Given the description of an element on the screen output the (x, y) to click on. 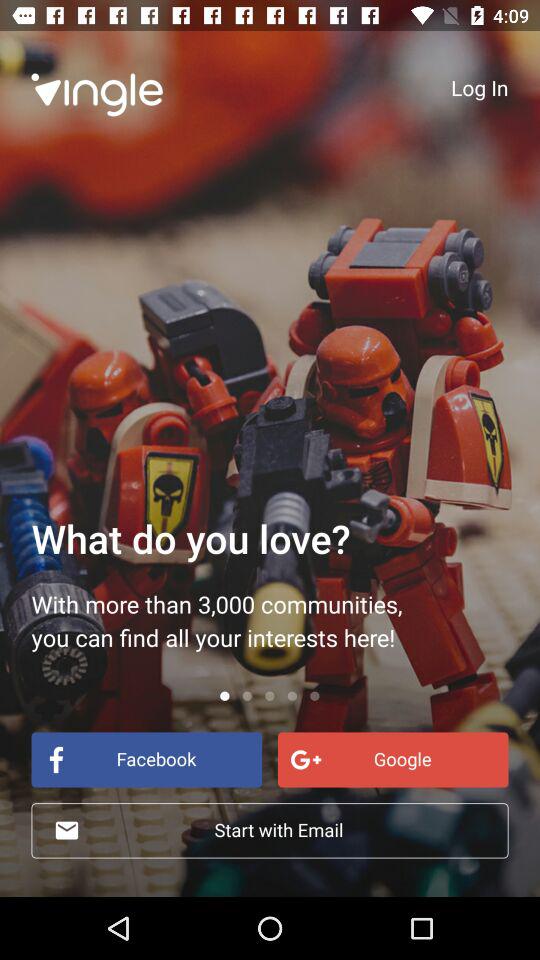
click the icon to the right of the facebook (392, 759)
